Given the description of an element on the screen output the (x, y) to click on. 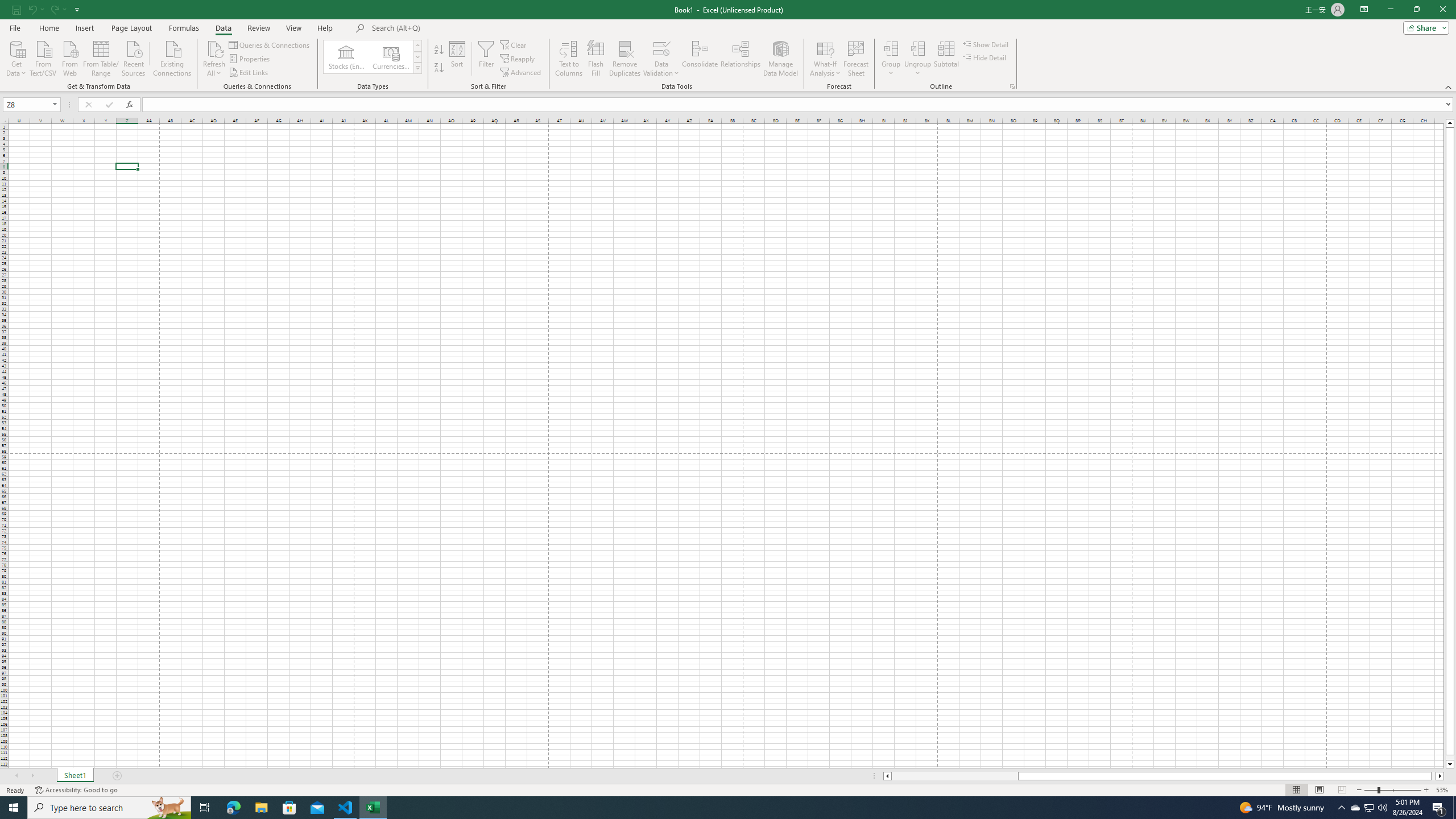
Flash Fill (595, 58)
Data Validation... (661, 58)
Accessibility Checker Accessibility: Good to go (76, 790)
Customize Quick Access Toolbar (77, 9)
Scroll Right (32, 775)
Text to Columns... (568, 58)
Advanced... (520, 72)
Group and Outline Settings (1011, 85)
Page down (1449, 757)
Refresh All (214, 48)
Group... (890, 58)
Formulas (184, 28)
Sheet1 (74, 775)
